Given the description of an element on the screen output the (x, y) to click on. 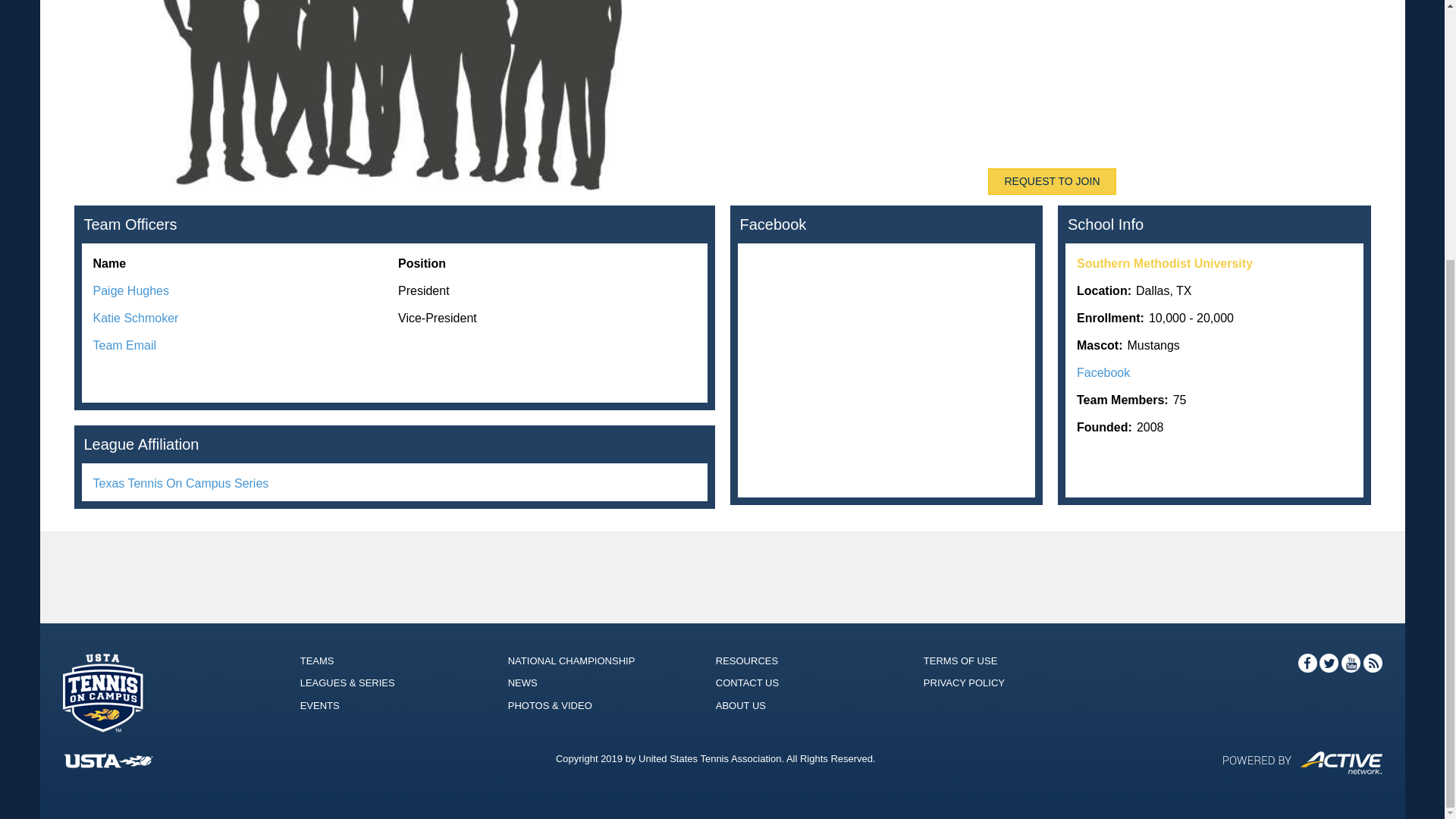
Contact Us (747, 682)
About USTA Tennis On Campus (740, 705)
Tennis On Campus RSS News Feed (1371, 668)
News (522, 682)
USTA Tennis On Campus National Championship (571, 660)
Terms of Use (960, 660)
Resources (746, 660)
Events (319, 705)
USTA Tennis On Campus Photo Site (550, 705)
Teams (316, 660)
Privacy Policy (963, 682)
